Given the description of an element on the screen output the (x, y) to click on. 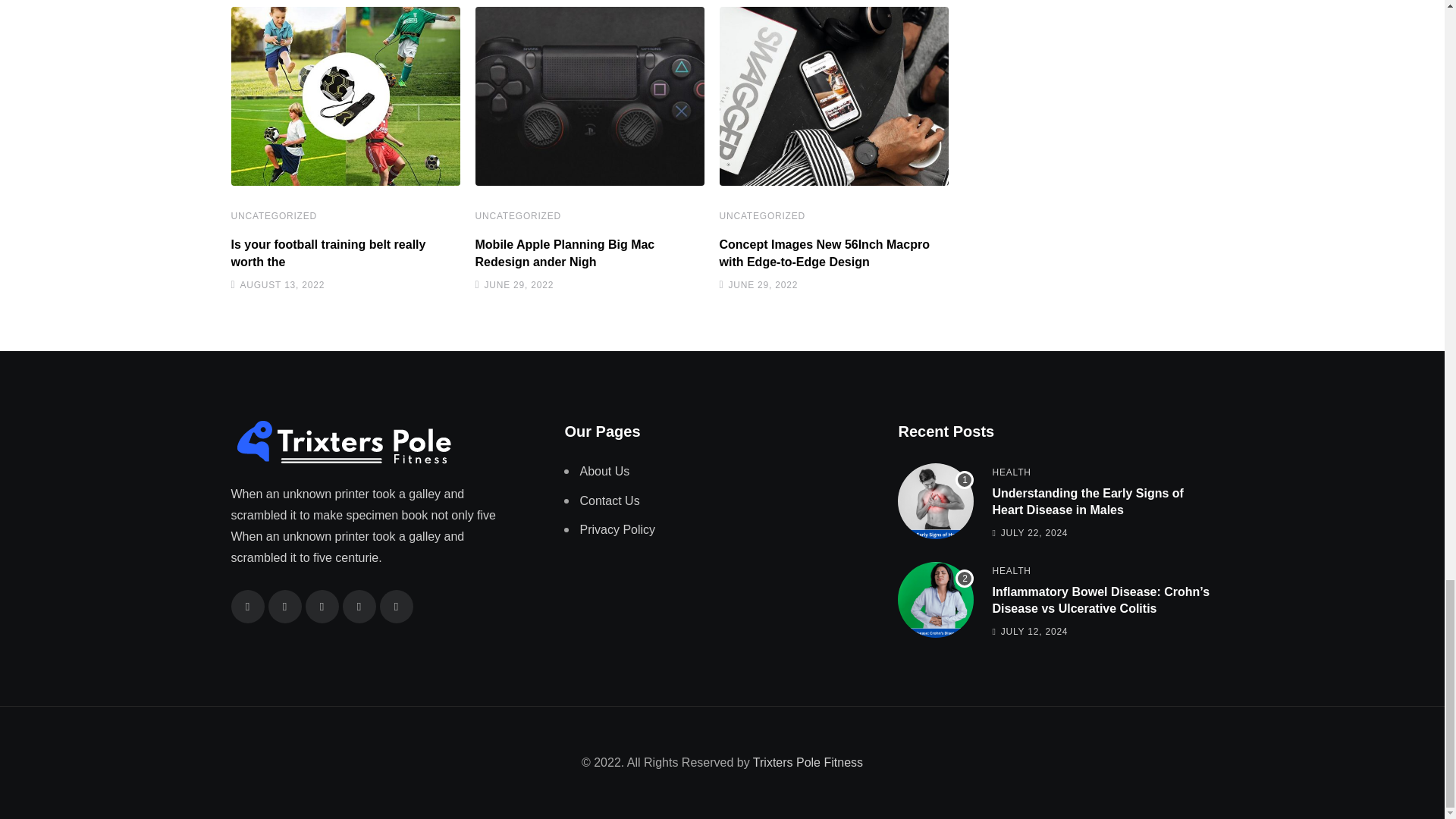
Understanding the Early Signs of Heart Disease in Males (936, 500)
